Given the description of an element on the screen output the (x, y) to click on. 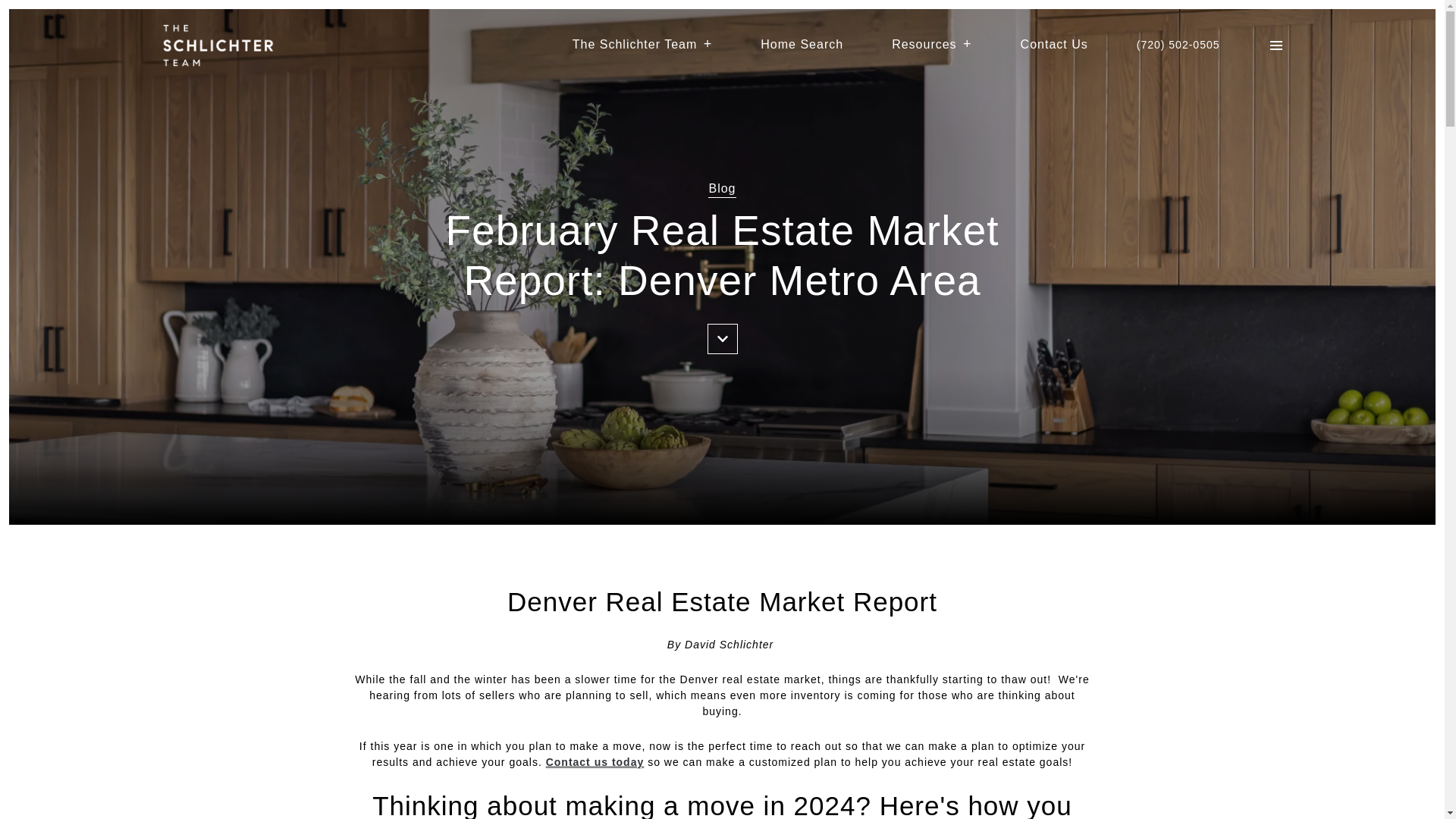
Resources (931, 44)
The Schlichter Team (642, 44)
Contact Us (1053, 44)
Home Search (801, 44)
